Given the description of an element on the screen output the (x, y) to click on. 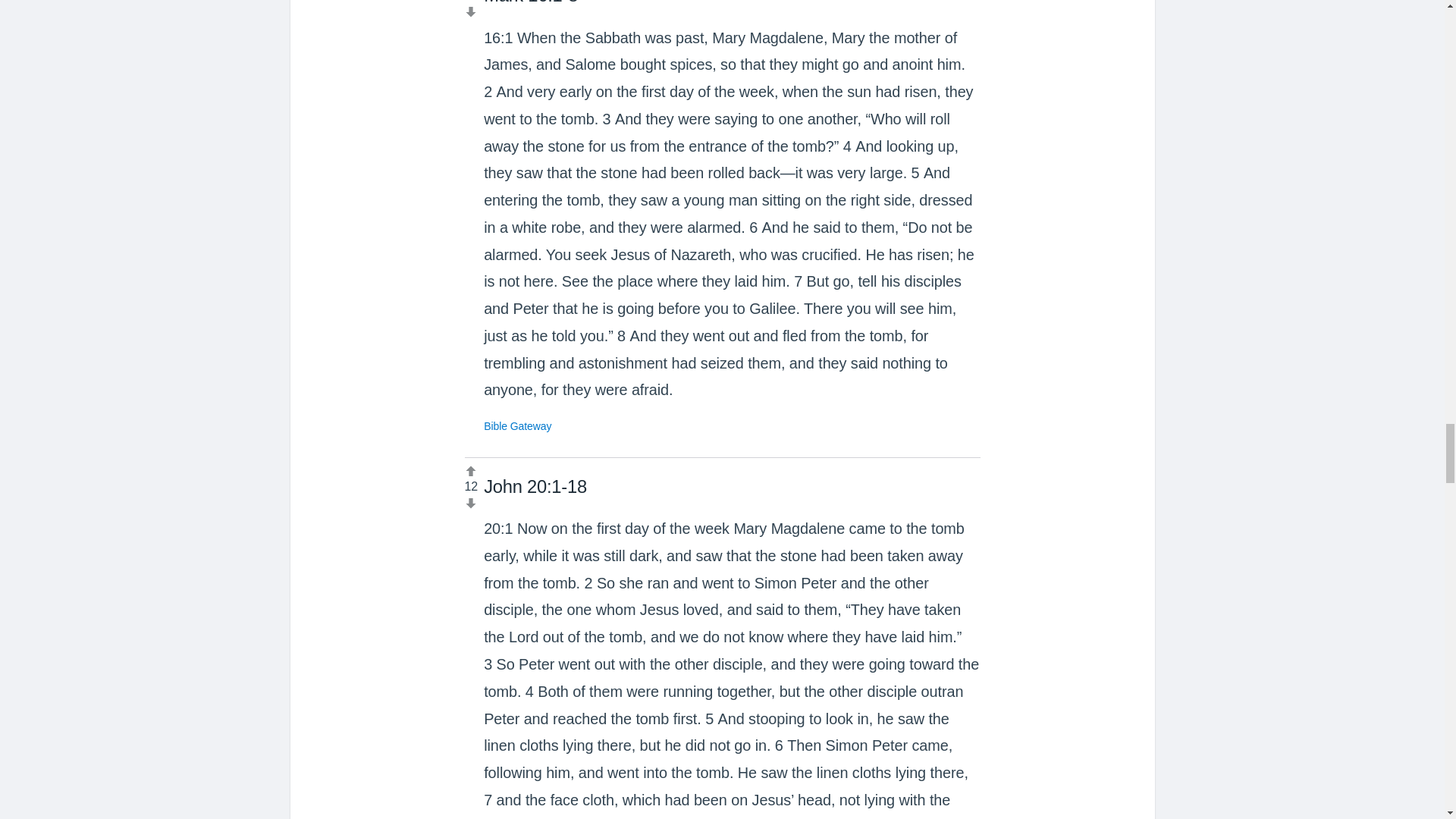
Bible Gateway (517, 426)
